Given the description of an element on the screen output the (x, y) to click on. 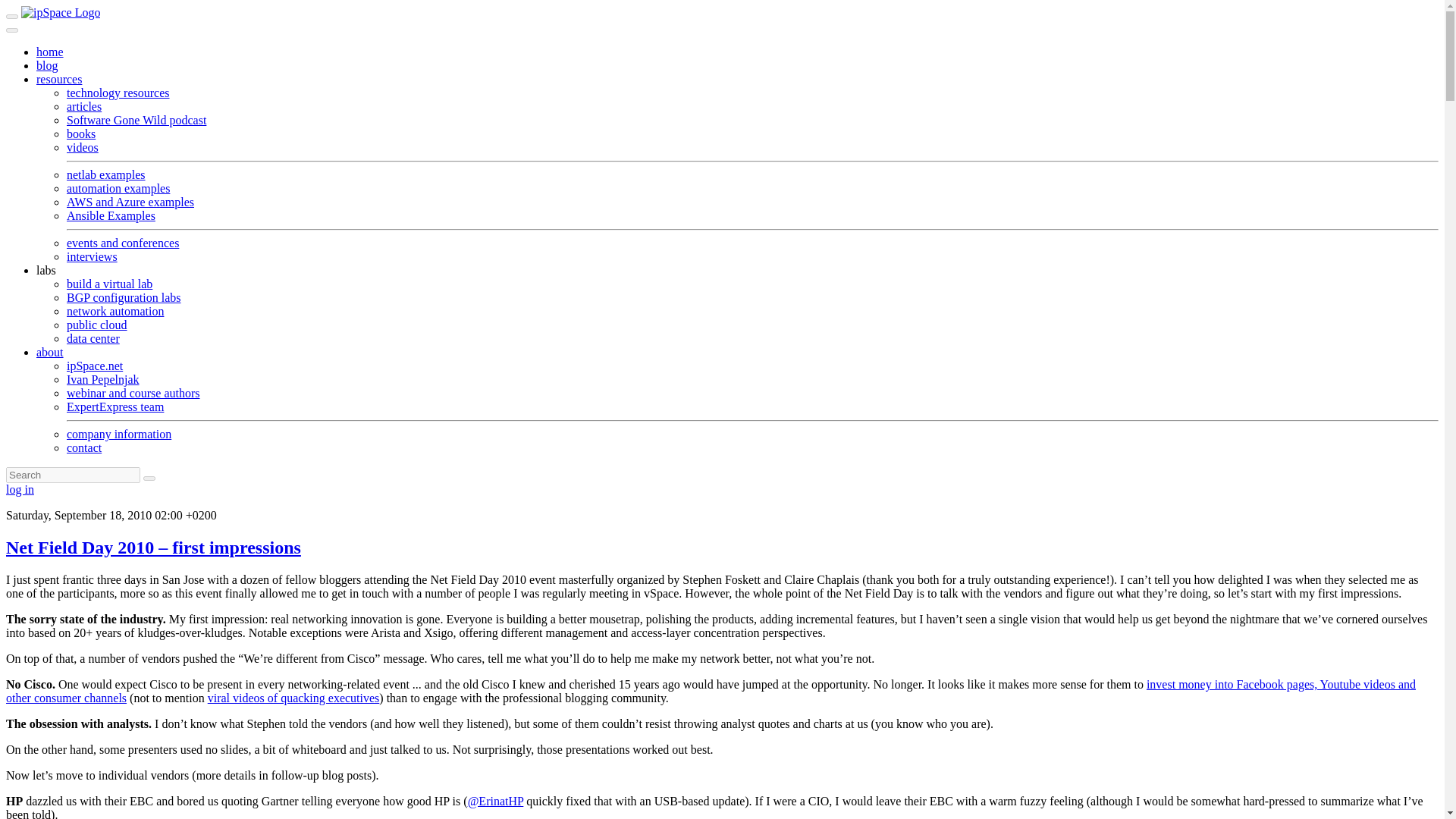
company information (118, 433)
ExpertExpress team (114, 406)
AWS and Azure examples (129, 201)
labs (46, 269)
events and conferences (122, 242)
articles (83, 106)
Ivan Pepelnjak (102, 379)
books (81, 133)
resources (58, 78)
network automation (114, 310)
netlab examples (105, 174)
automation examples (118, 187)
Ansible Examples (110, 215)
videos (82, 146)
ipSpace.net (94, 365)
